Given the description of an element on the screen output the (x, y) to click on. 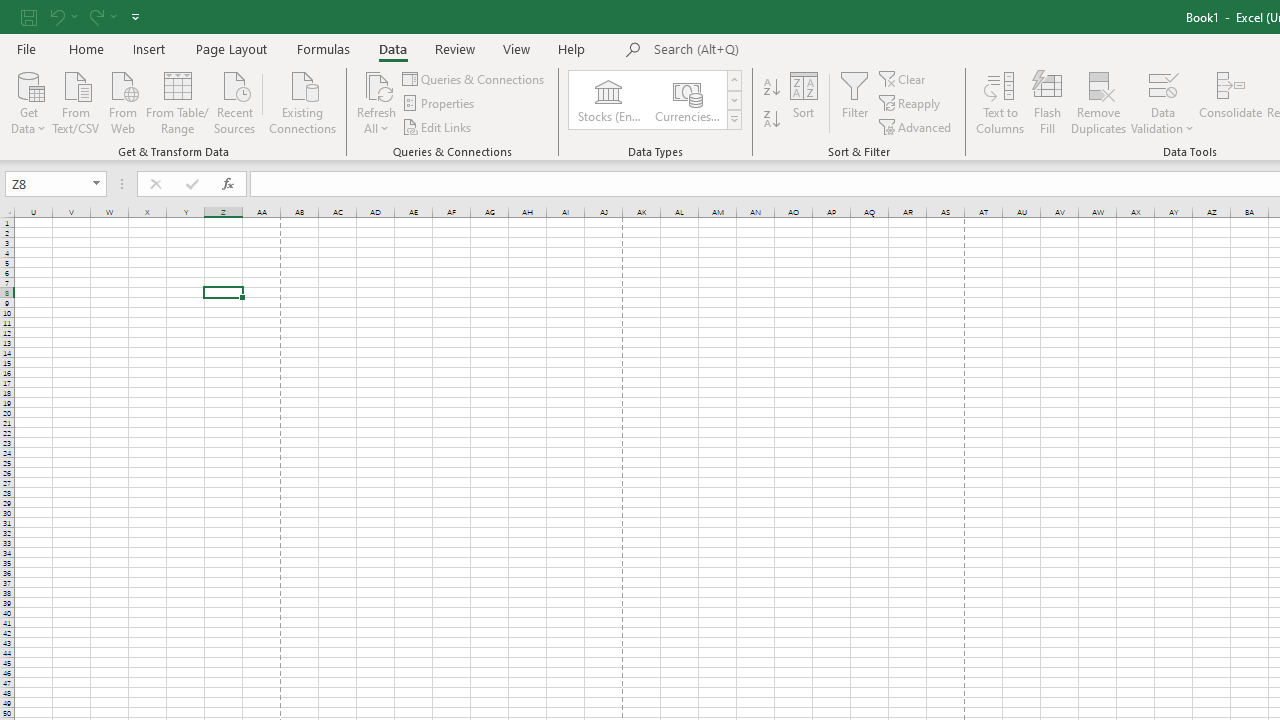
Remove Duplicates (1098, 102)
Advanced... (916, 126)
Recent Sources (235, 101)
Row Down (734, 100)
